Given the description of an element on the screen output the (x, y) to click on. 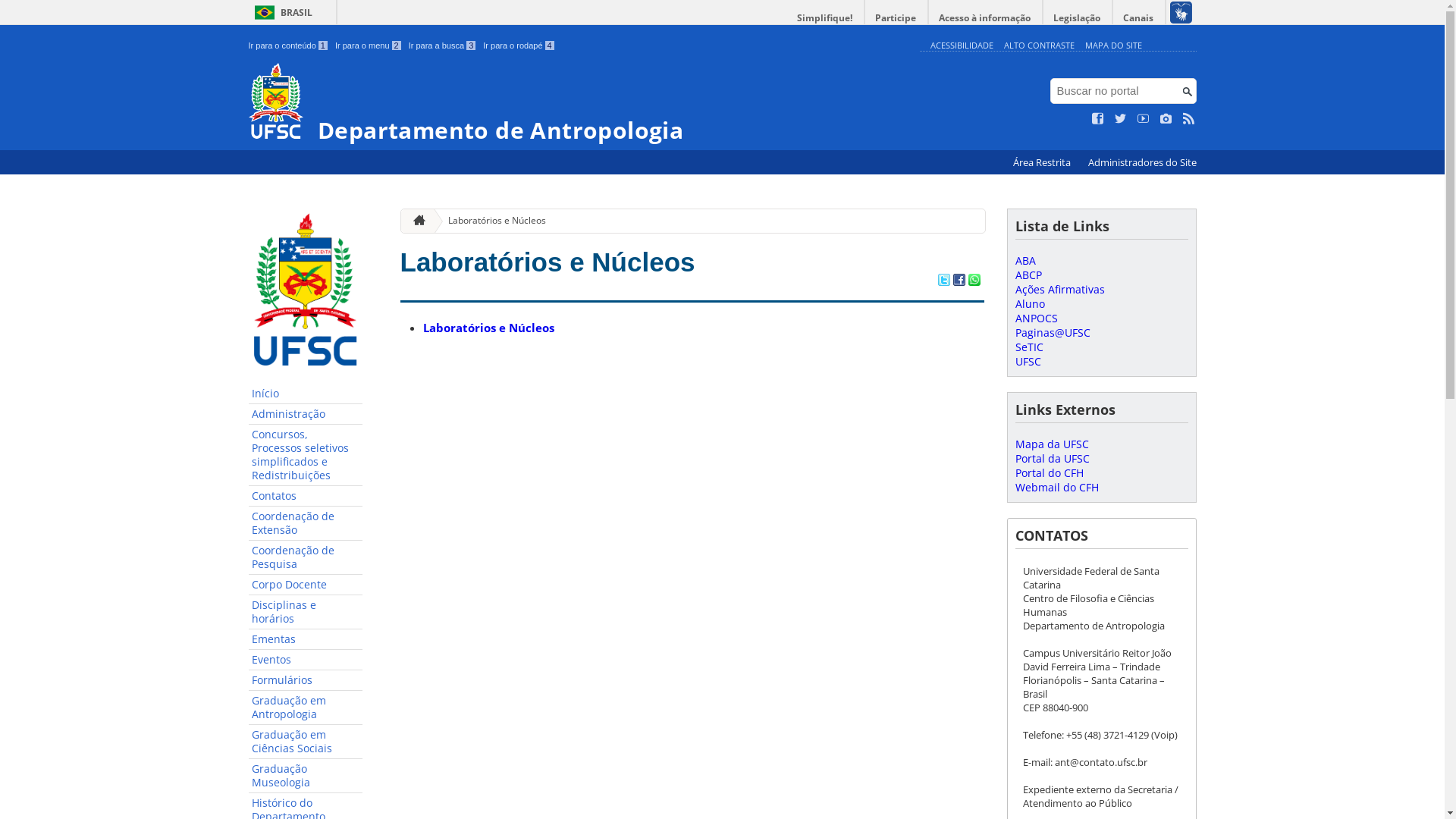
ABA Element type: text (1024, 260)
SeTIC Element type: text (1028, 346)
Simplifique! Element type: text (825, 18)
Compartilhar no Twitter Element type: hover (943, 280)
UFSC Element type: text (1027, 361)
Participe Element type: text (895, 18)
Canais Element type: text (1138, 18)
Webmail do CFH Element type: text (1056, 487)
Aluno Element type: text (1029, 303)
Eventos Element type: text (305, 659)
MAPA DO SITE Element type: text (1112, 44)
Portal do CFH Element type: text (1048, 472)
Curta no Facebook Element type: hover (1098, 118)
Ementas Element type: text (305, 639)
Veja no Instagram Element type: hover (1166, 118)
Portal da UFSC Element type: text (1051, 458)
Ir para o menu 2 Element type: text (368, 45)
ABCP Element type: text (1027, 274)
Paginas@UFSC Element type: text (1051, 332)
Ir para a busca 3 Element type: text (442, 45)
Departamento de Antropologia Element type: text (580, 102)
Corpo Docente Element type: text (305, 584)
Mapa da UFSC Element type: text (1051, 443)
ALTO CONTRASTE Element type: text (1039, 44)
Compartilhar no WhatsApp Element type: hover (973, 280)
ANPOCS Element type: text (1035, 317)
BRASIL Element type: text (280, 12)
Siga no Twitter Element type: hover (1120, 118)
Contatos Element type: text (305, 496)
ACESSIBILIDADE Element type: text (960, 44)
Administradores do Site Element type: text (1141, 162)
Compartilhar no Facebook Element type: hover (958, 280)
